Given the description of an element on the screen output the (x, y) to click on. 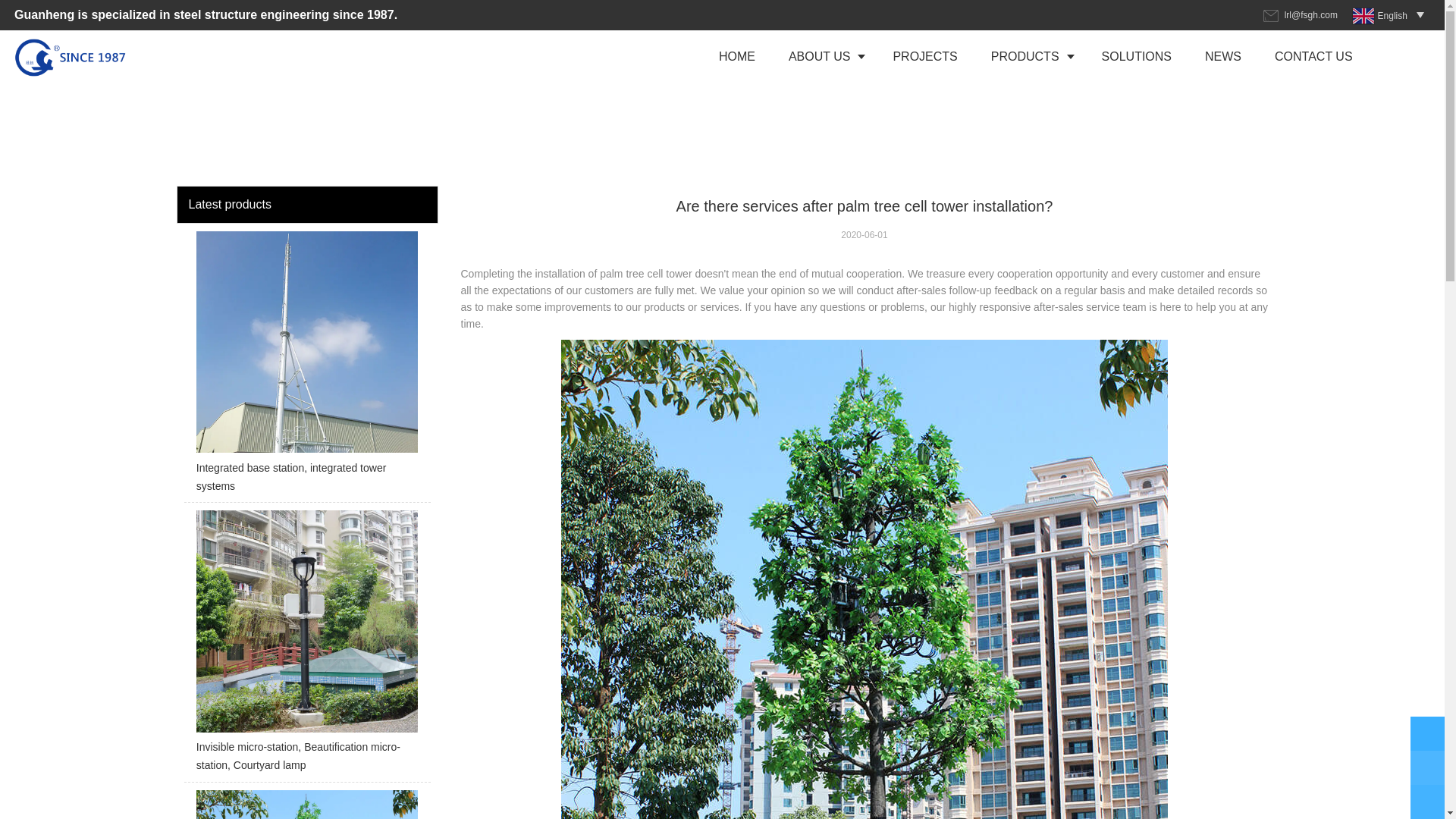
ABOUT US (823, 56)
HOME (736, 56)
CONTACT US (1313, 56)
PROJECTS (925, 56)
Bionic tree tower, Disguised palm tower (306, 804)
Integrated base station, integrated tower systems (306, 366)
NEWS (1222, 56)
PRODUCTS (1029, 56)
SOLUTIONS (1136, 56)
